Given the description of an element on the screen output the (x, y) to click on. 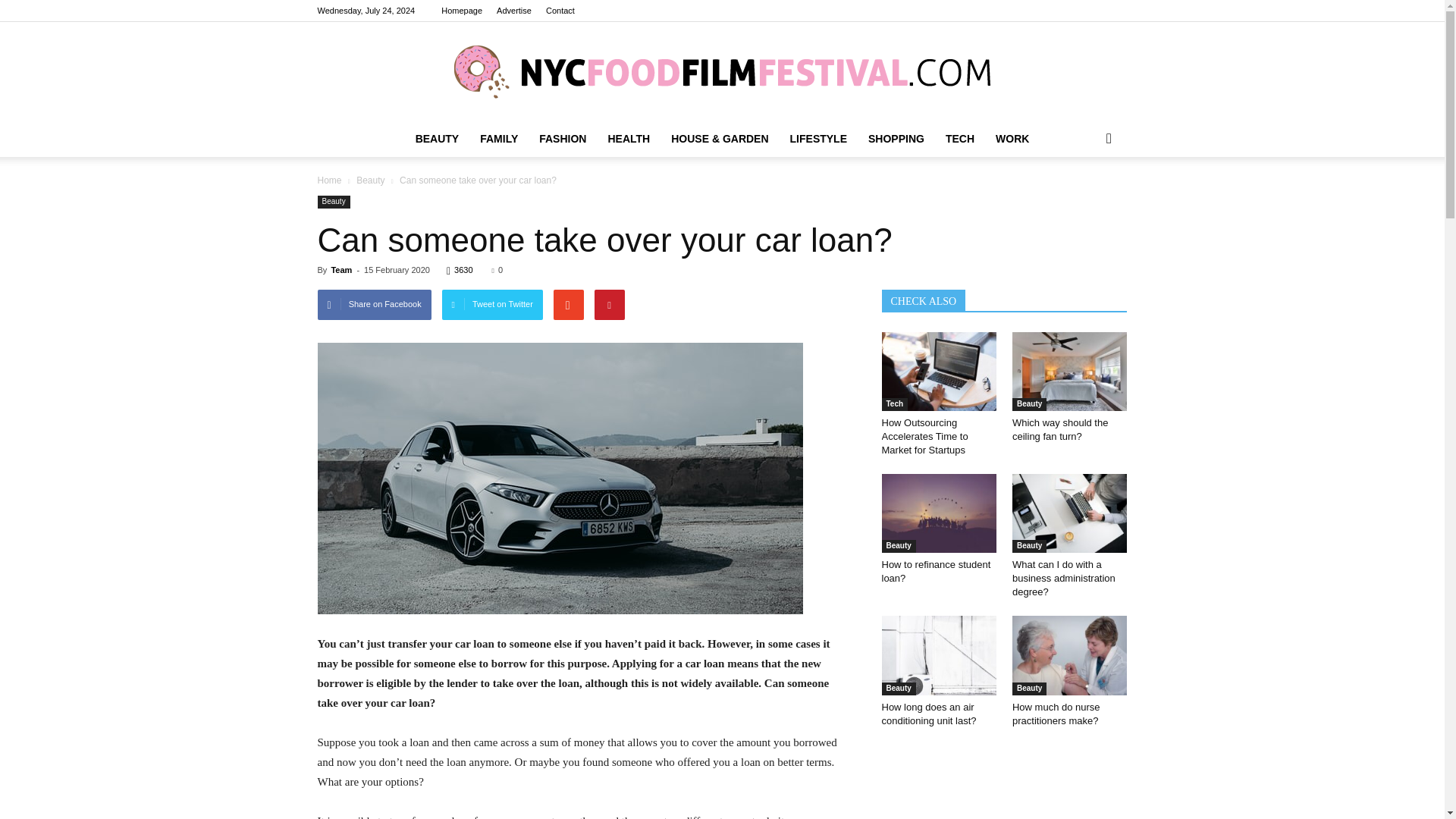
0 (497, 269)
Tweet on Twitter (492, 304)
Contact (560, 10)
HEALTH (628, 138)
Beauty (371, 180)
Search (1085, 199)
TECH (959, 138)
Beauty (333, 201)
Home (328, 180)
FAMILY (498, 138)
Team (341, 269)
BEAUTY (437, 138)
nycfoodfilmfestival (722, 71)
Advertise (513, 10)
WORK (1012, 138)
